Given the description of an element on the screen output the (x, y) to click on. 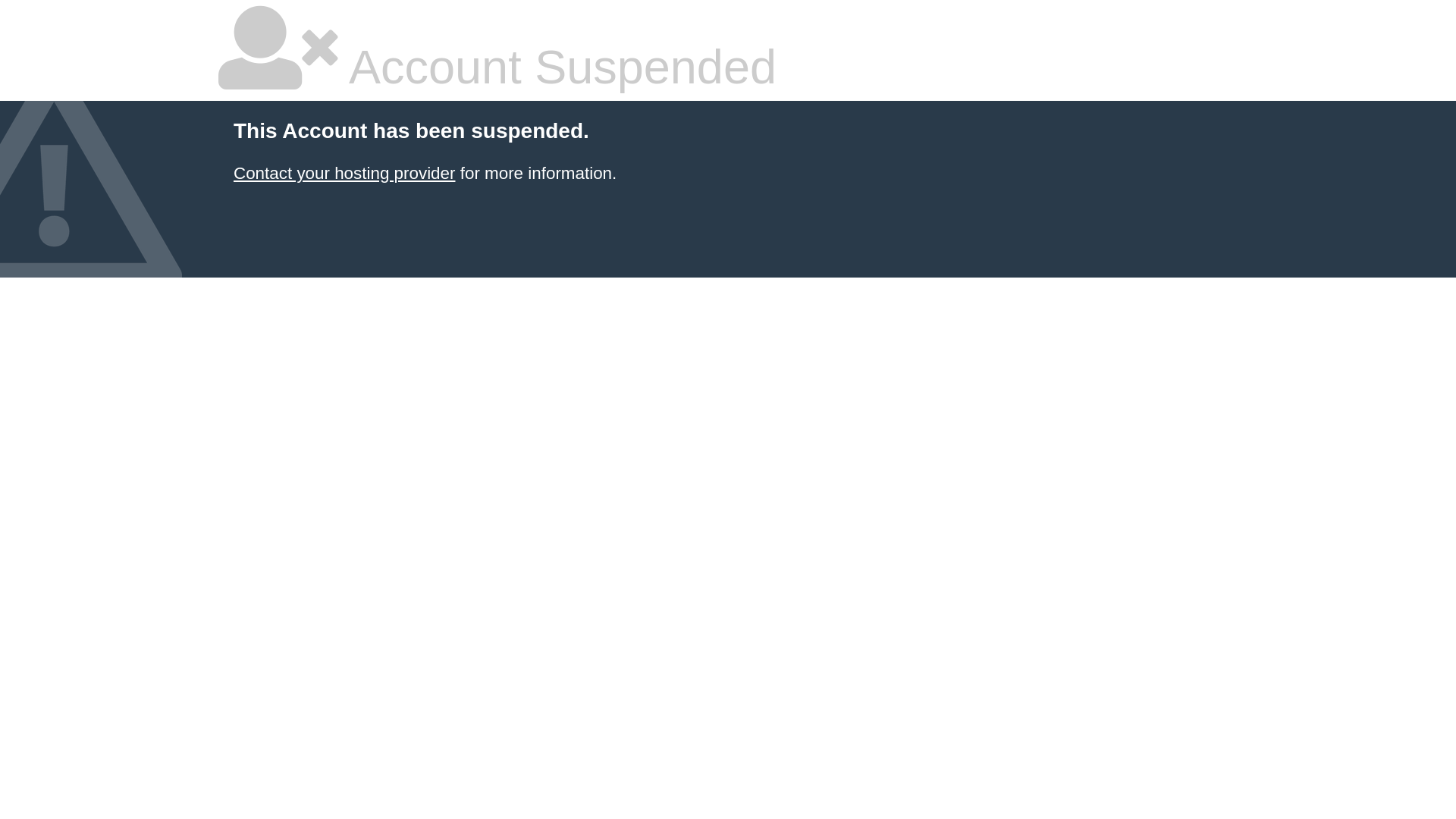
Contact your hosting provider Element type: text (344, 172)
